Given the description of an element on the screen output the (x, y) to click on. 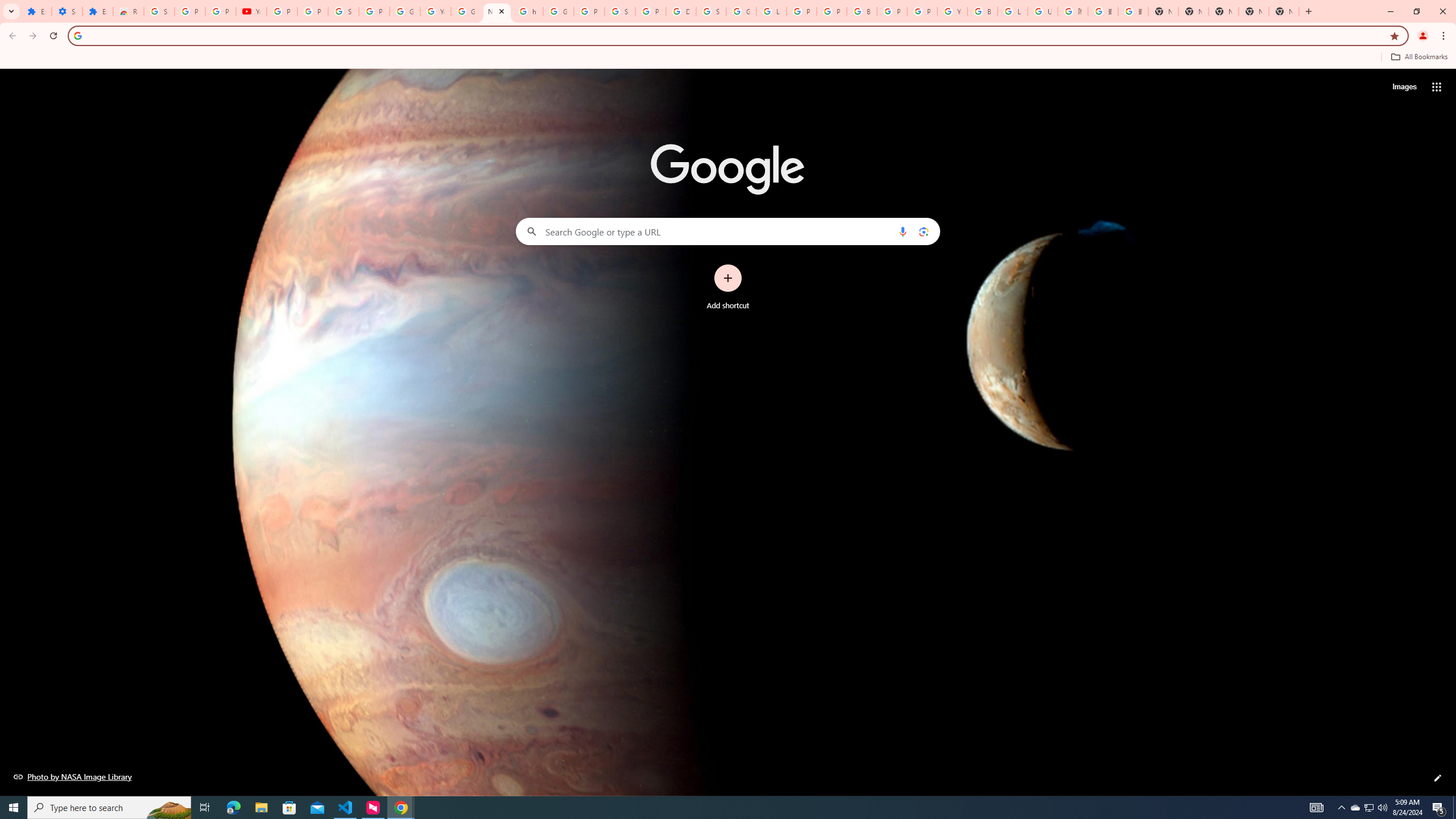
Sign in - Google Accounts (158, 11)
Search icon (77, 35)
Add shortcut (727, 287)
https://scholar.google.com/ (527, 11)
Search by image (922, 230)
Google apps (1436, 86)
All Bookmarks (1418, 56)
